Given the description of an element on the screen output the (x, y) to click on. 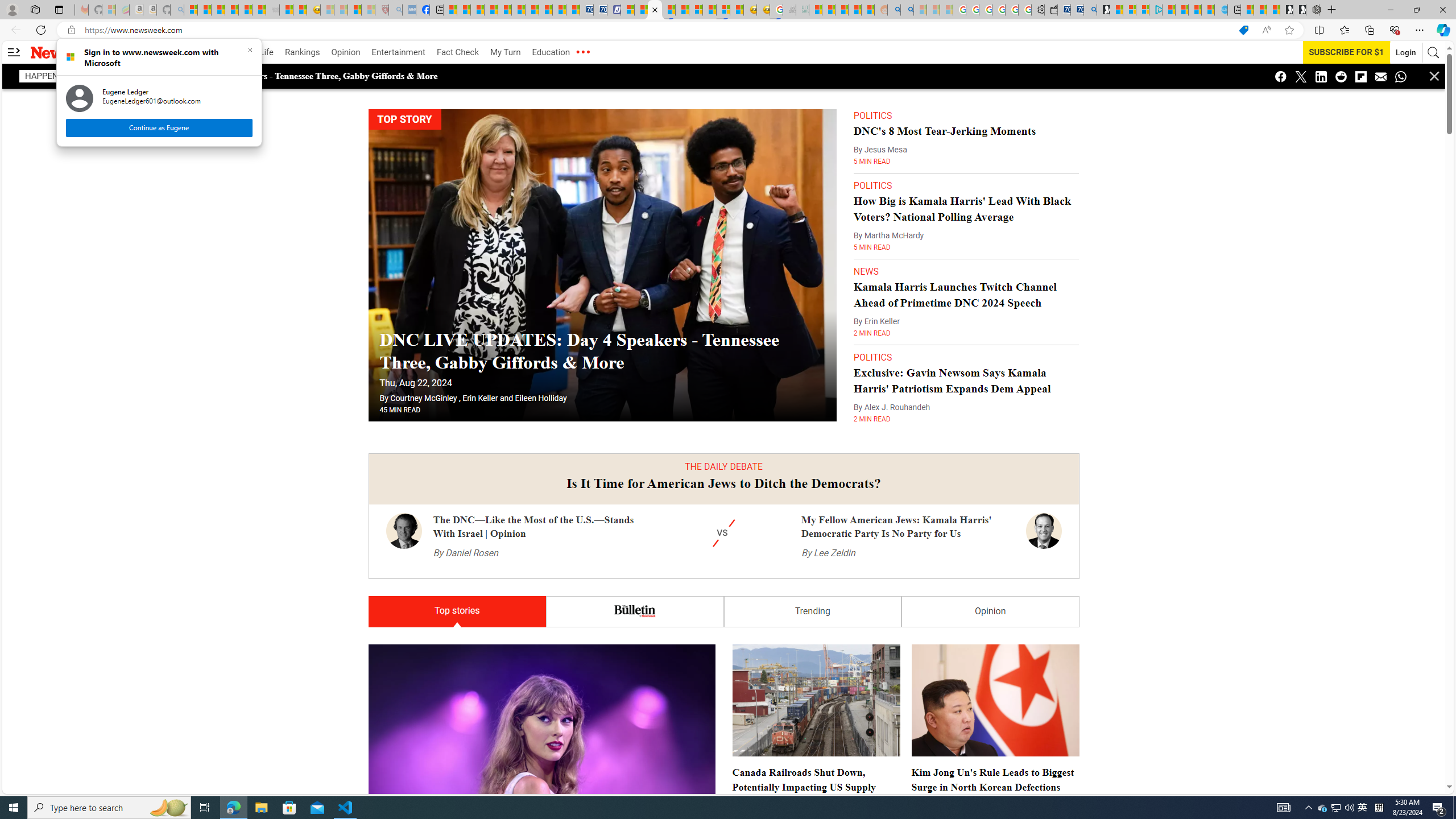
New Report Confirms 2023 Was Record Hot | Watch (245, 9)
Rankings (302, 52)
Class: icon icon-email (1380, 75)
Class: icon-flipboard (1322, 807)
